Given the description of an element on the screen output the (x, y) to click on. 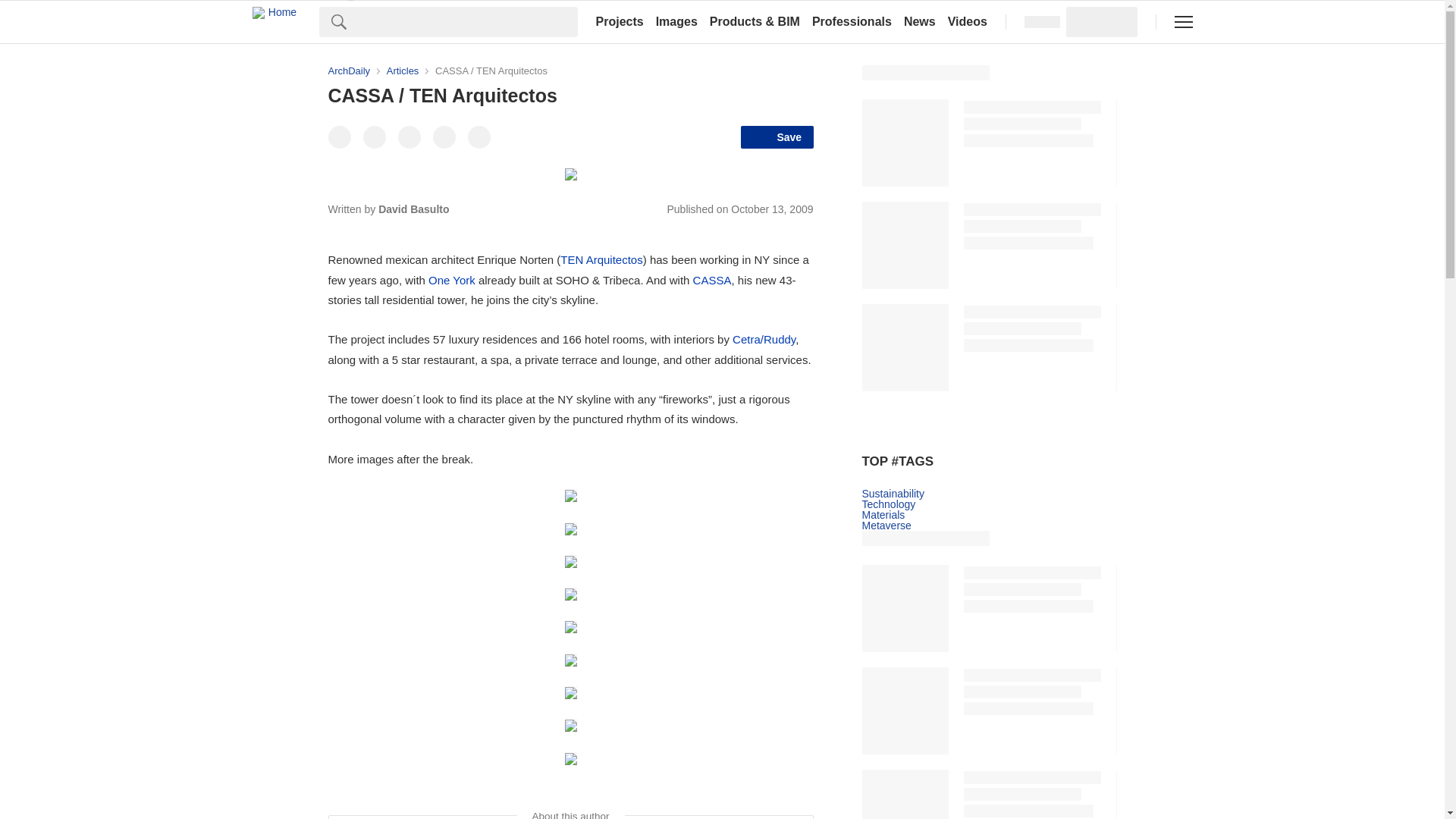
News (920, 21)
Images (676, 21)
Professionals (852, 21)
Projects (619, 21)
Videos (967, 21)
